Given the description of an element on the screen output the (x, y) to click on. 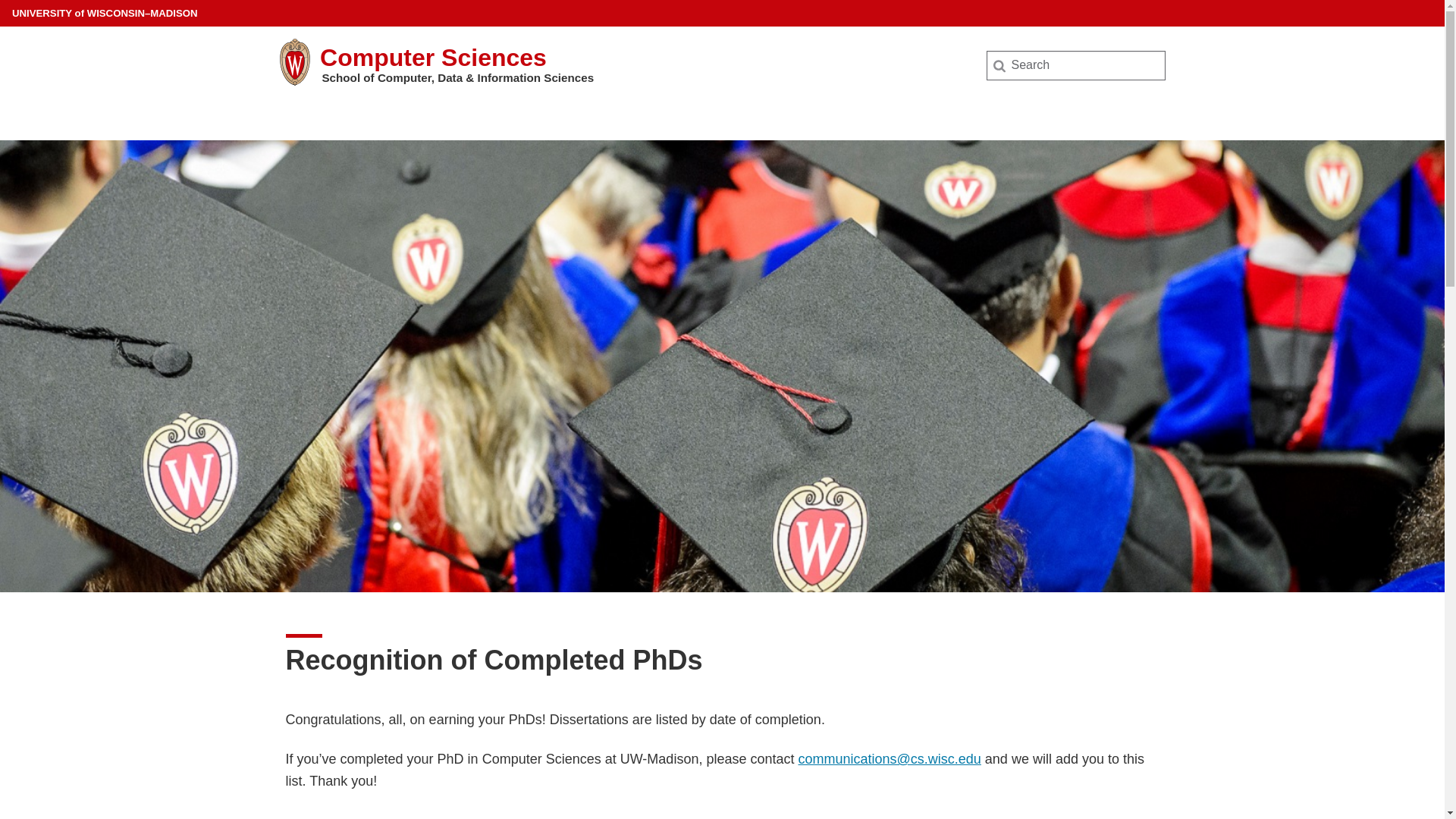
Computer Sciences (433, 57)
Skip to main content (3, 3)
Search (37, 16)
